Given the description of an element on the screen output the (x, y) to click on. 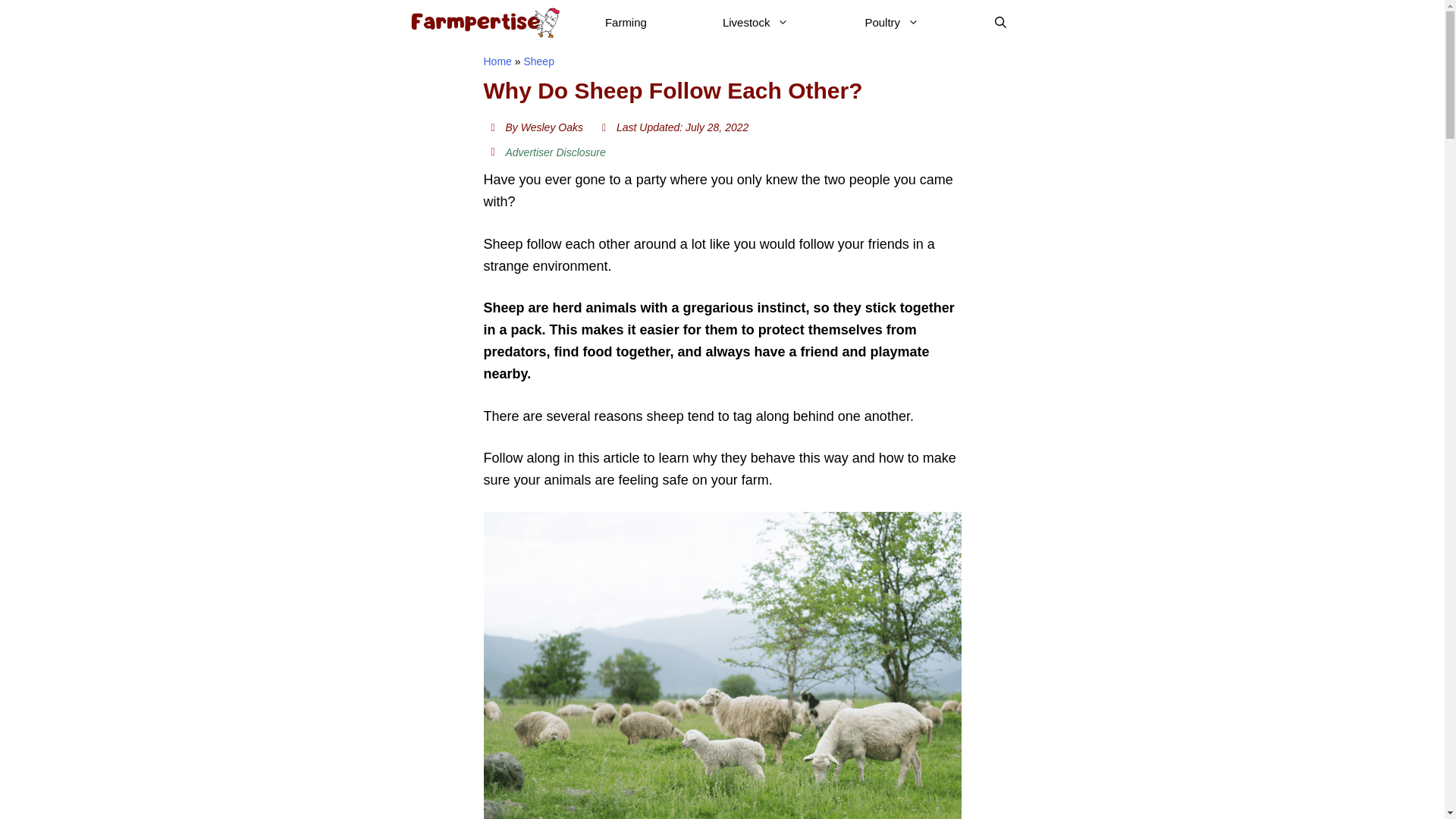
Sheep (537, 61)
Poultry (891, 22)
Home (497, 61)
Livestock (755, 22)
Farmpertise (483, 22)
Farming (625, 22)
